Given the description of an element on the screen output the (x, y) to click on. 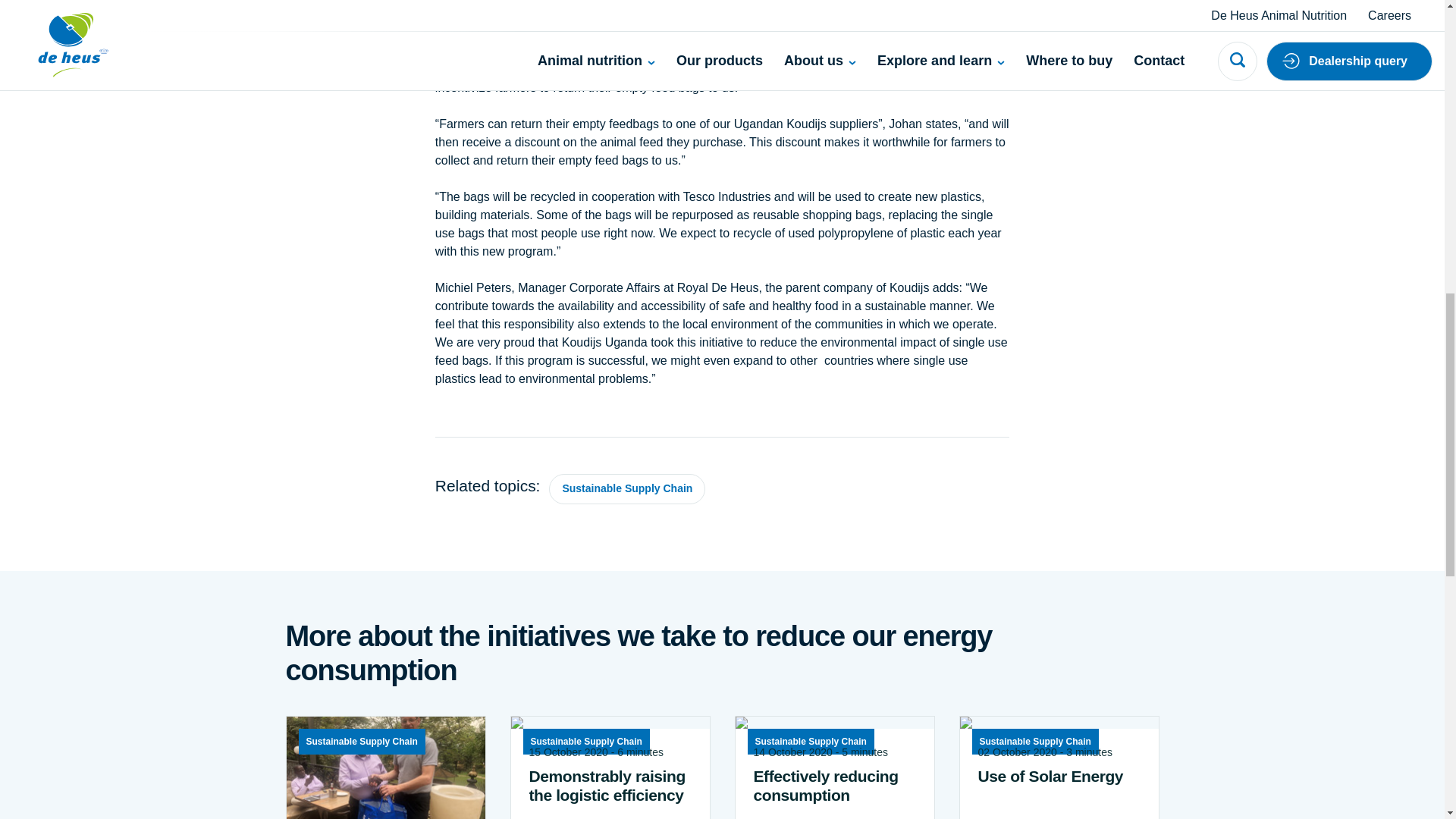
Use of Solar Energy (1059, 480)
Demonstrably raising the logistic efficiency (610, 490)
Effectively reducing consumption (834, 490)
